Given the description of an element on the screen output the (x, y) to click on. 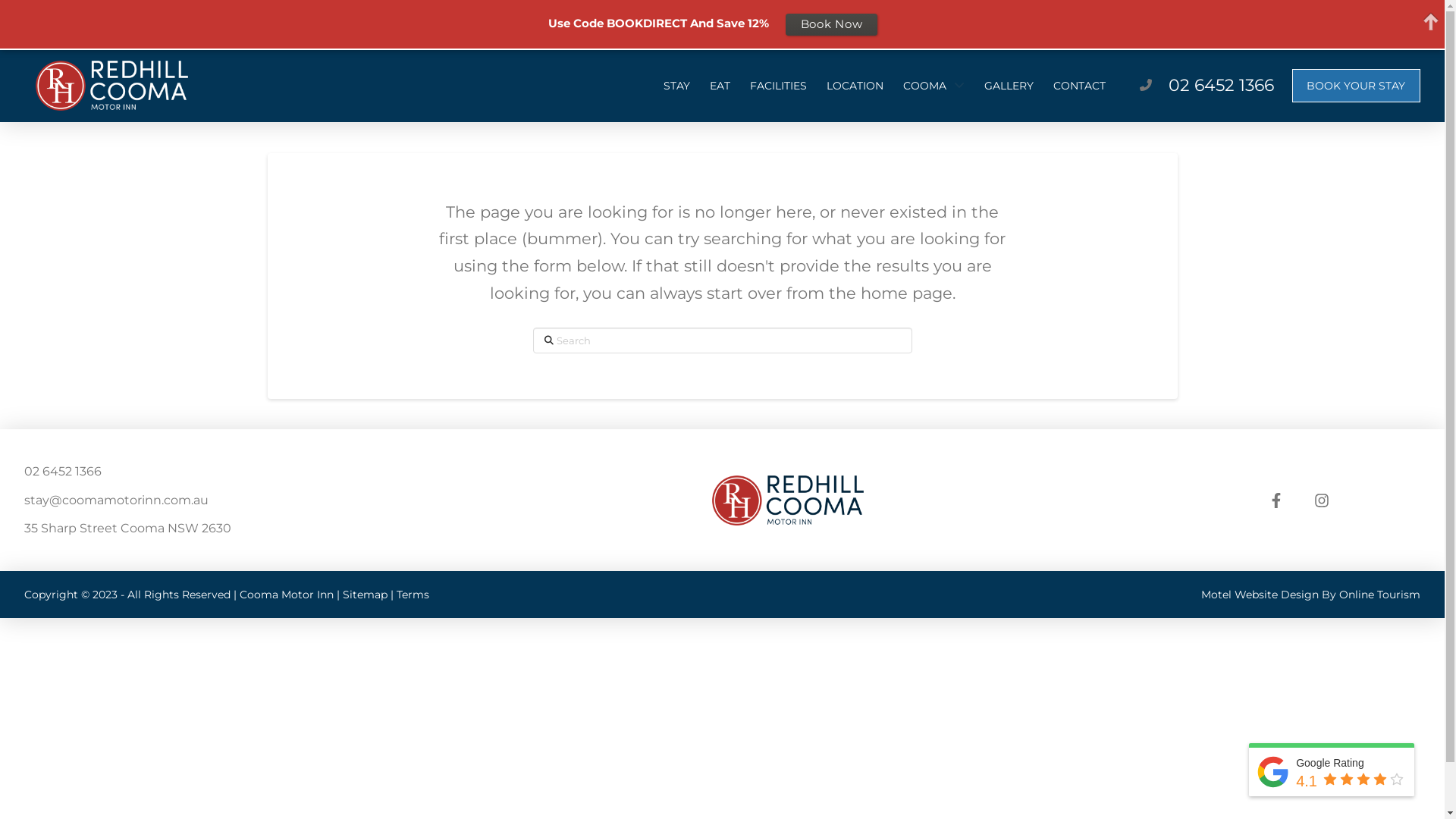
GALLERY Element type: text (1008, 85)
BOOK YOUR STAY Element type: text (1356, 85)
LOCATION Element type: text (854, 85)
02 6452 1366 Element type: text (1221, 85)
COOMA Element type: text (933, 85)
Sitemap Element type: text (364, 594)
STAY Element type: text (676, 85)
EAT Element type: text (719, 85)
Cooma Motor Inn Element type: text (286, 594)
Online Tourism Element type: text (1379, 594)
FACILITIES Element type: text (778, 85)
Terms Element type: text (412, 594)
Google Rating
4.1 Element type: text (1331, 771)
CONTACT Element type: text (1079, 85)
Motel Website Design Element type: text (1259, 594)
